Given the description of an element on the screen output the (x, y) to click on. 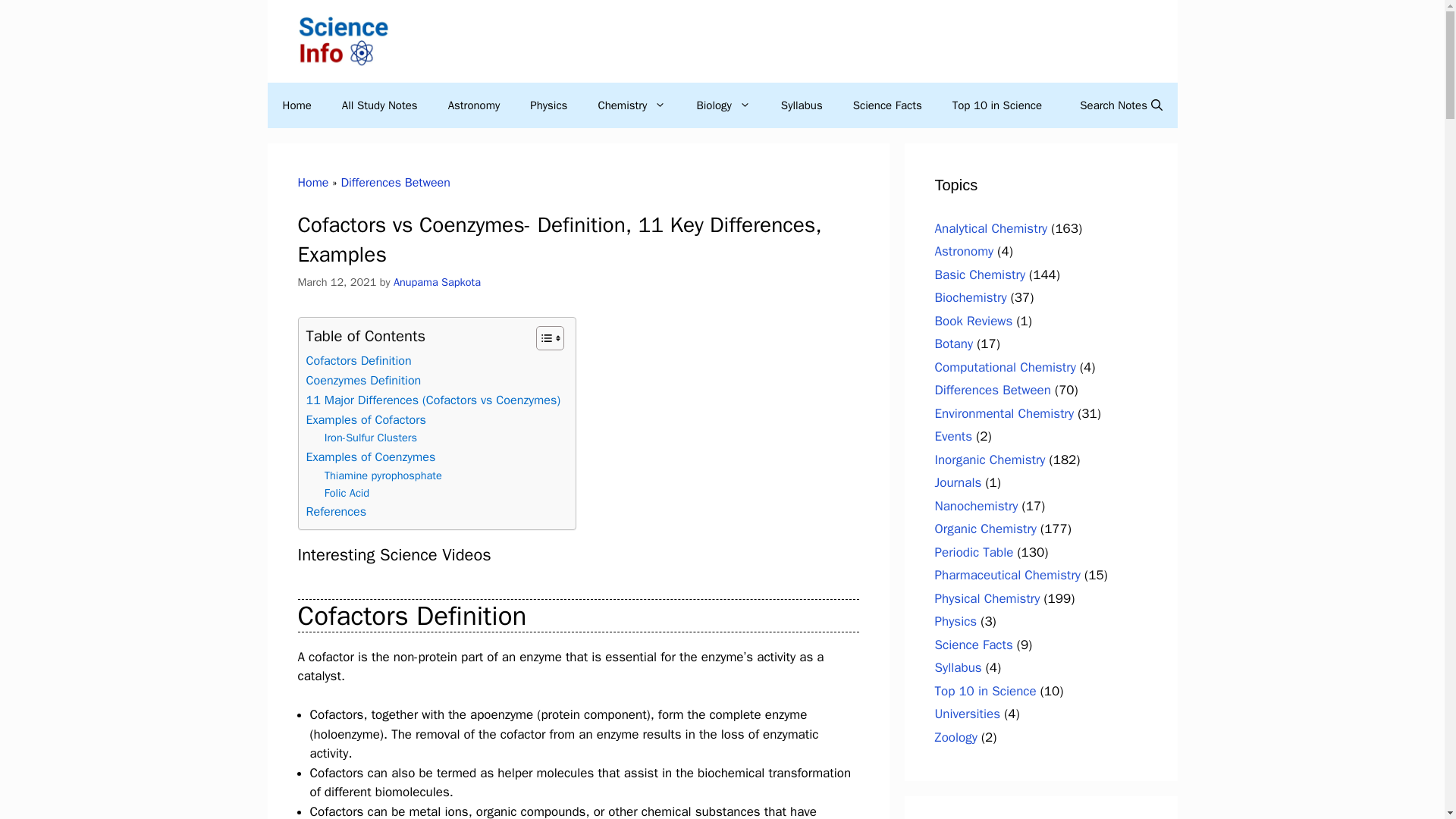
View all posts by Anupama Sapkota (436, 282)
Top 10 in Science (997, 104)
Examples of Coenzymes (370, 456)
Home (313, 182)
Cofactors Definition (358, 361)
Astronomy (473, 104)
Coenzymes Definition (363, 380)
Examples of Coenzymes (370, 456)
Chemistry (631, 104)
Examples of Cofactors (365, 419)
